Given the description of an element on the screen output the (x, y) to click on. 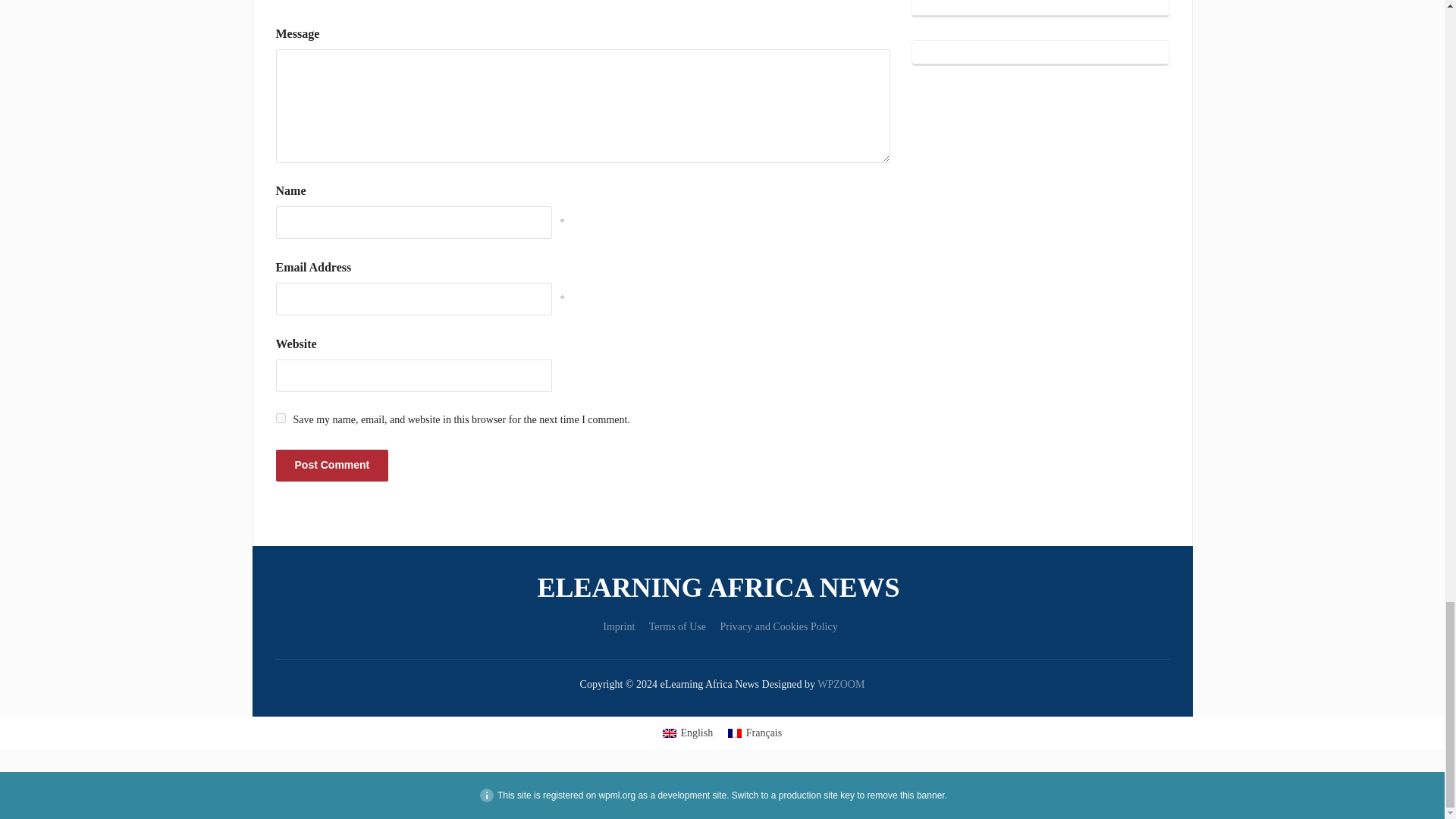
Post Comment (332, 464)
yes (280, 418)
Post Comment (332, 464)
